Given the description of an element on the screen output the (x, y) to click on. 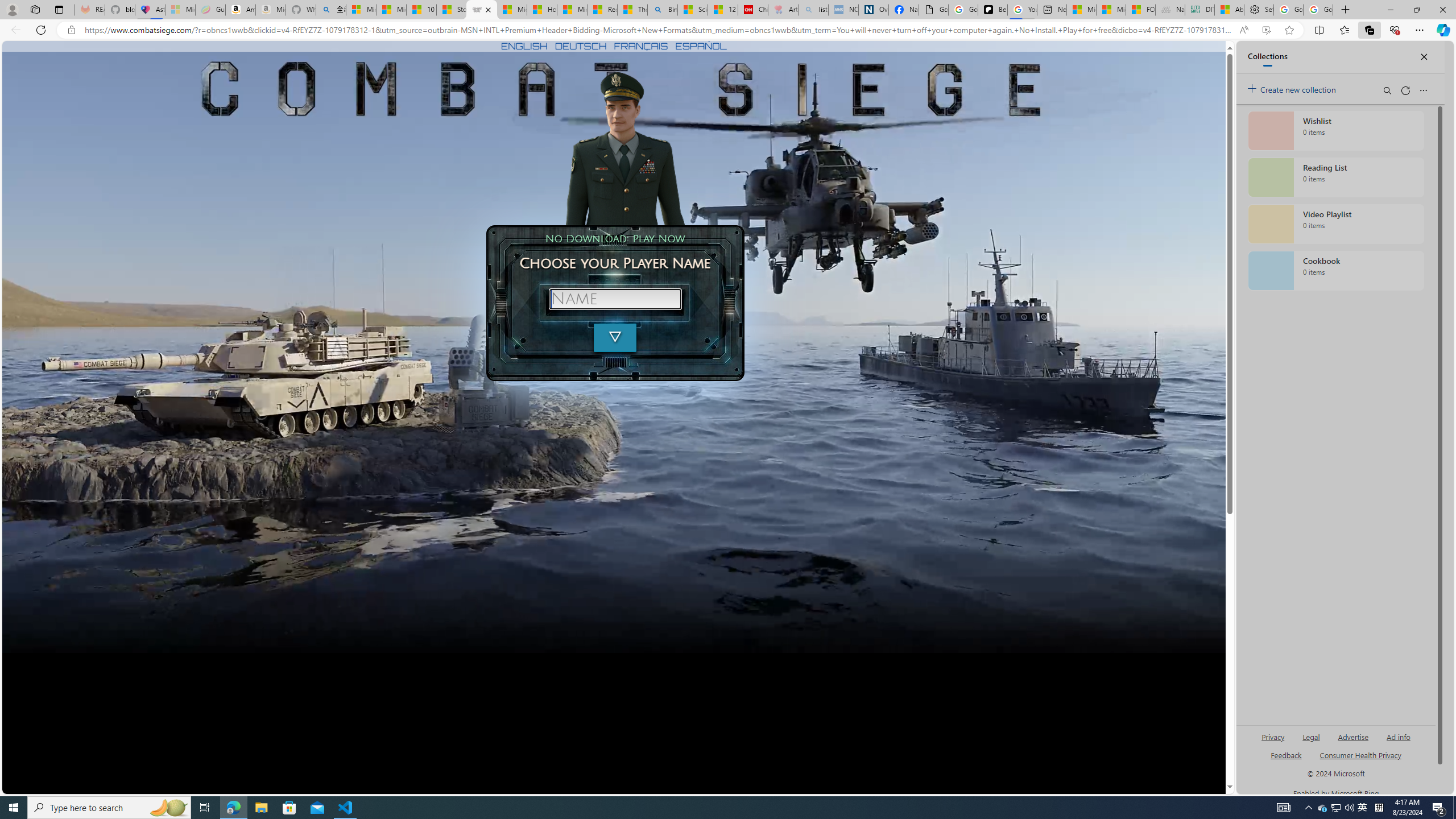
DEUTSCH (580, 45)
Arthritis: Ask Health Professionals - Sleeping (782, 9)
AutomationID: sb_feedback (1286, 754)
